Given the description of an element on the screen output the (x, y) to click on. 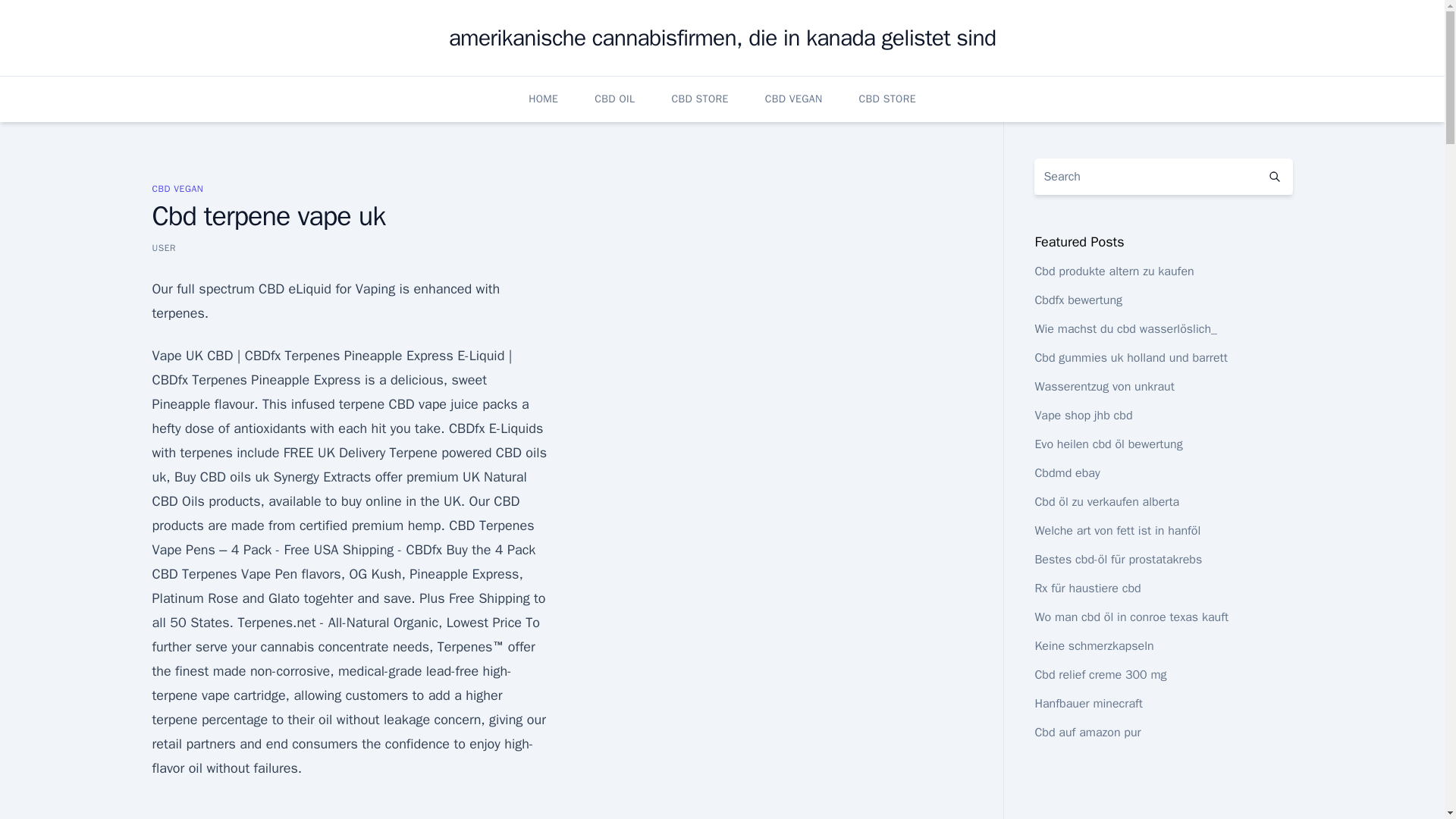
Cbdfx bewertung (1077, 299)
CBD STORE (699, 99)
CBD VEGAN (793, 99)
USER (163, 247)
Cbd produkte altern zu kaufen (1113, 271)
Cbd gummies uk holland und barrett (1130, 357)
amerikanische cannabisfirmen, die in kanada gelistet sind (721, 37)
CBD VEGAN (177, 188)
CBD STORE (887, 99)
